Given the description of an element on the screen output the (x, y) to click on. 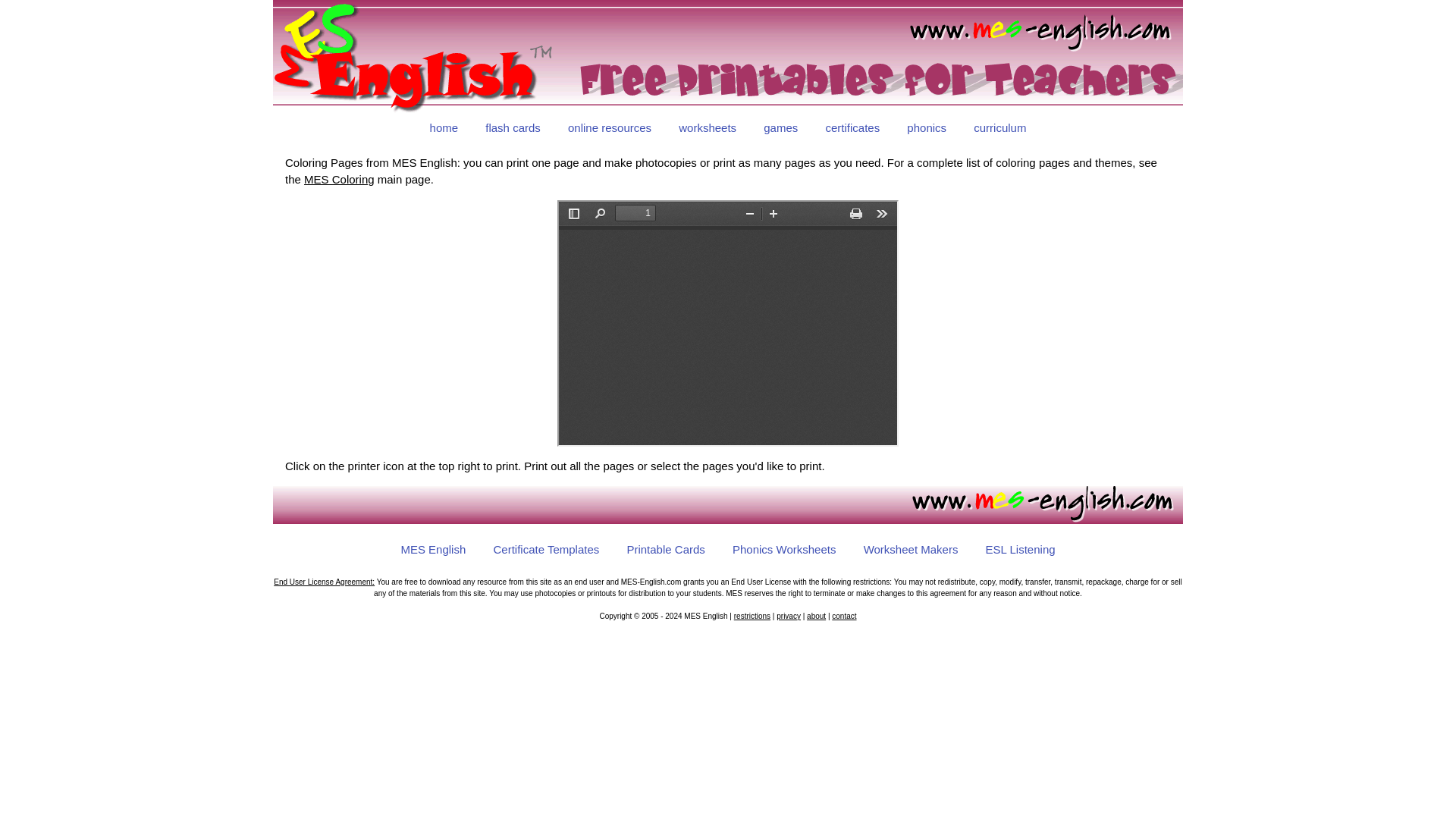
phonics (926, 128)
MES Online Resources (609, 128)
online resources (609, 128)
games (780, 128)
Certificate Templates (545, 550)
ESL Listening (1020, 550)
EFL Curriculum (999, 128)
MES Phonics (926, 128)
Certificate Templates (851, 128)
Worksheets (707, 128)
MES English (432, 550)
certificates (851, 128)
MES Coloring (339, 178)
flash cards (513, 128)
MES English (443, 128)
